Given the description of an element on the screen output the (x, y) to click on. 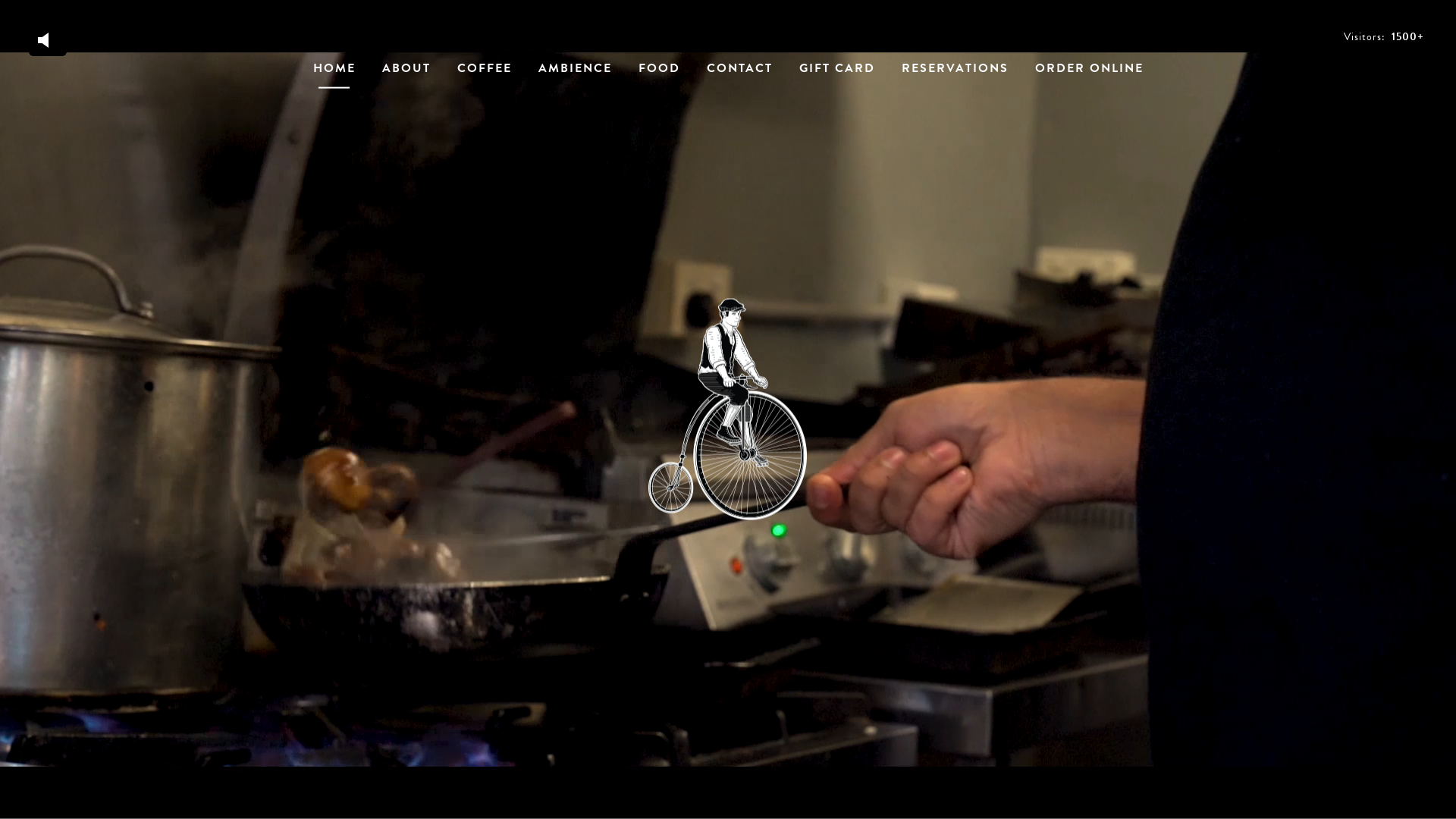
FOOD Element type: text (659, 73)
AMBIENCE Element type: text (574, 73)
GIFT CARD Element type: text (837, 73)
CONTACT Element type: text (739, 73)
ORDER ONLINE Element type: text (1088, 73)
ABOUT Element type: text (406, 73)
RESERVATIONS Element type: text (953, 73)
COFFEE Element type: text (483, 73)
